Given the description of an element on the screen output the (x, y) to click on. 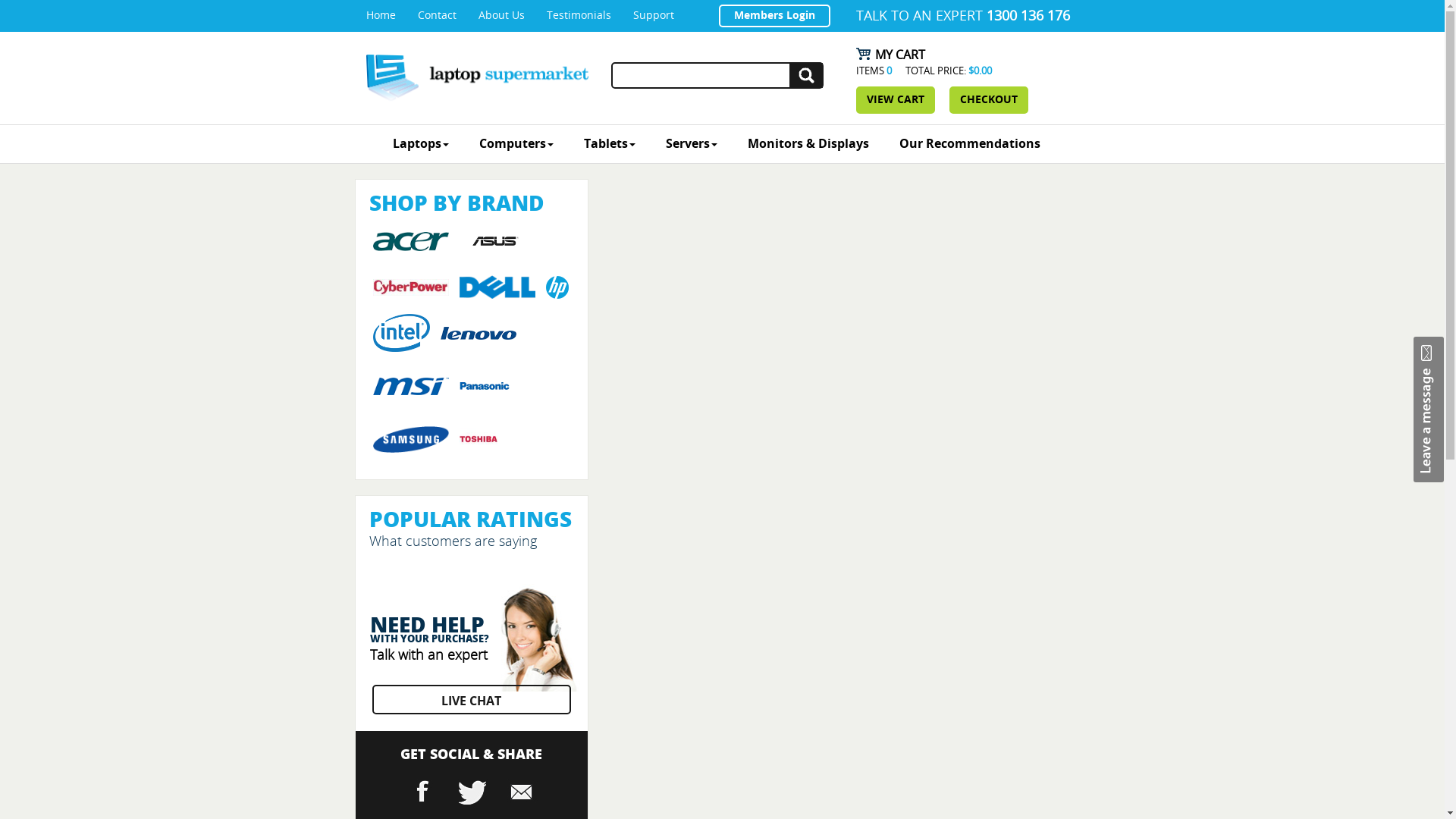
Support Element type: text (652, 15)
VIEW CART Element type: text (895, 99)
LIVE CHAT Element type: text (470, 699)
Laptops Element type: text (420, 143)
Monitors & Displays Element type: text (808, 143)
Servers Element type: text (691, 143)
Our Recommendations Element type: text (969, 143)
Testimonials Element type: text (578, 15)
Contact Element type: text (436, 15)
Members Login Element type: text (774, 15)
Search Element type: text (805, 74)
Home Element type: text (380, 15)
About Us Element type: text (500, 15)
Computers Element type: text (516, 143)
Tablets Element type: text (609, 143)
CHECKOUT Element type: text (988, 99)
